Given the description of an element on the screen output the (x, y) to click on. 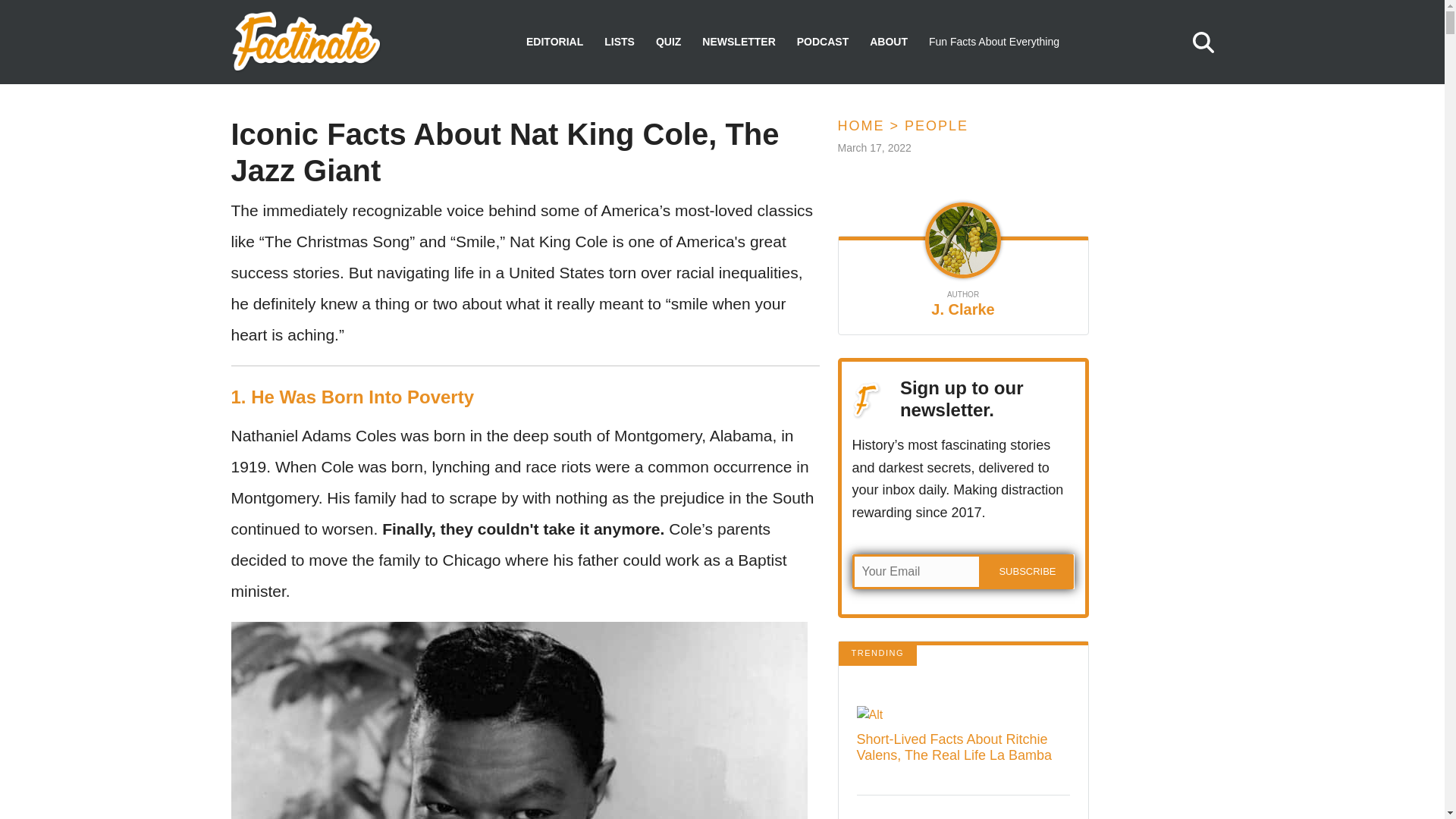
PODCAST (822, 41)
ABOUT (888, 41)
NEWSLETTER (737, 41)
LISTS (619, 41)
QUIZ (668, 41)
EDITORIAL (554, 41)
